Given the description of an element on the screen output the (x, y) to click on. 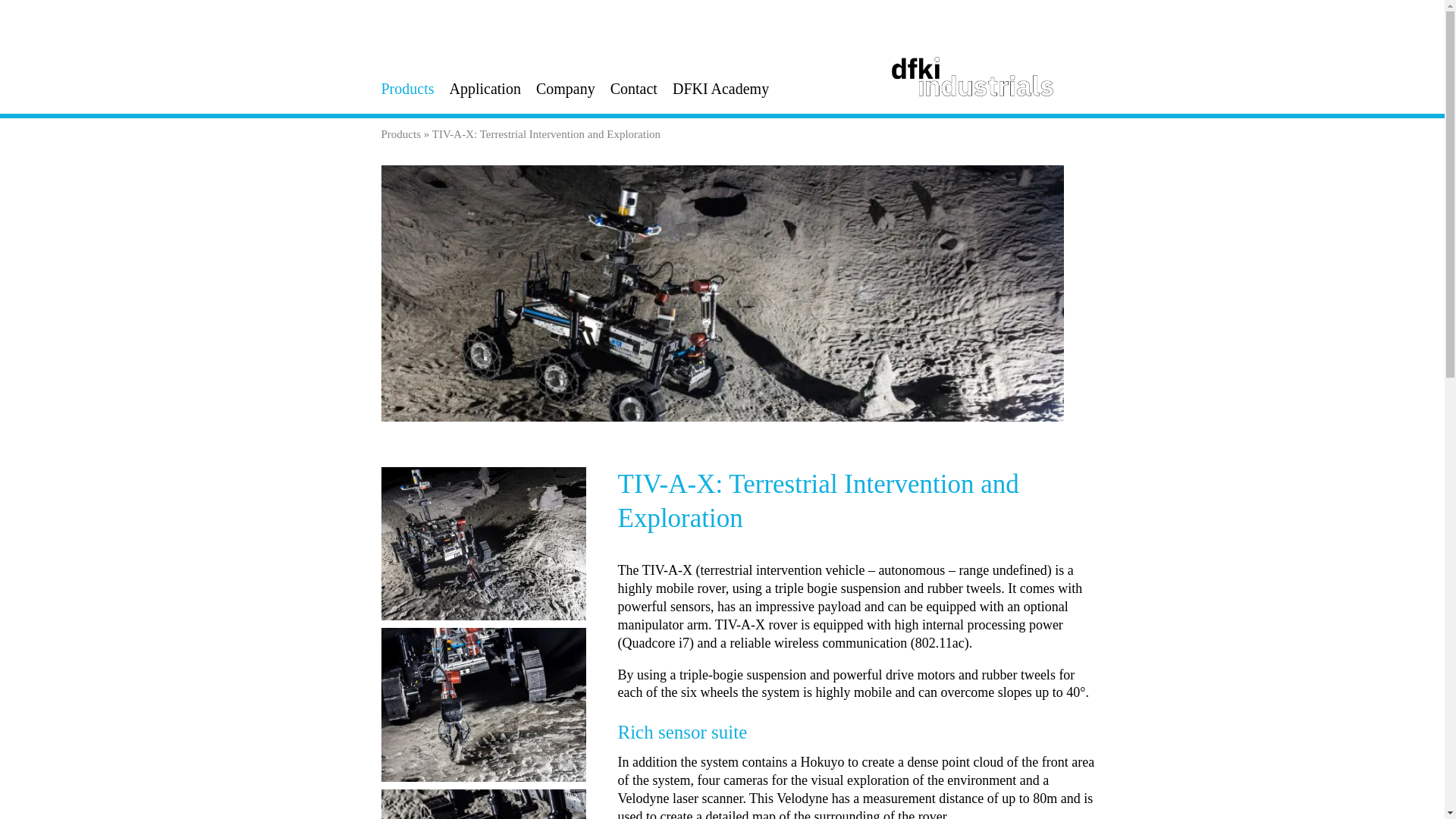
Products (406, 88)
Contact (634, 88)
products (406, 88)
Contact (634, 88)
Products (400, 133)
DFKI Academy (720, 88)
Application (483, 88)
DFKI Academy (720, 88)
Company (565, 88)
Company (565, 88)
